Given the description of an element on the screen output the (x, y) to click on. 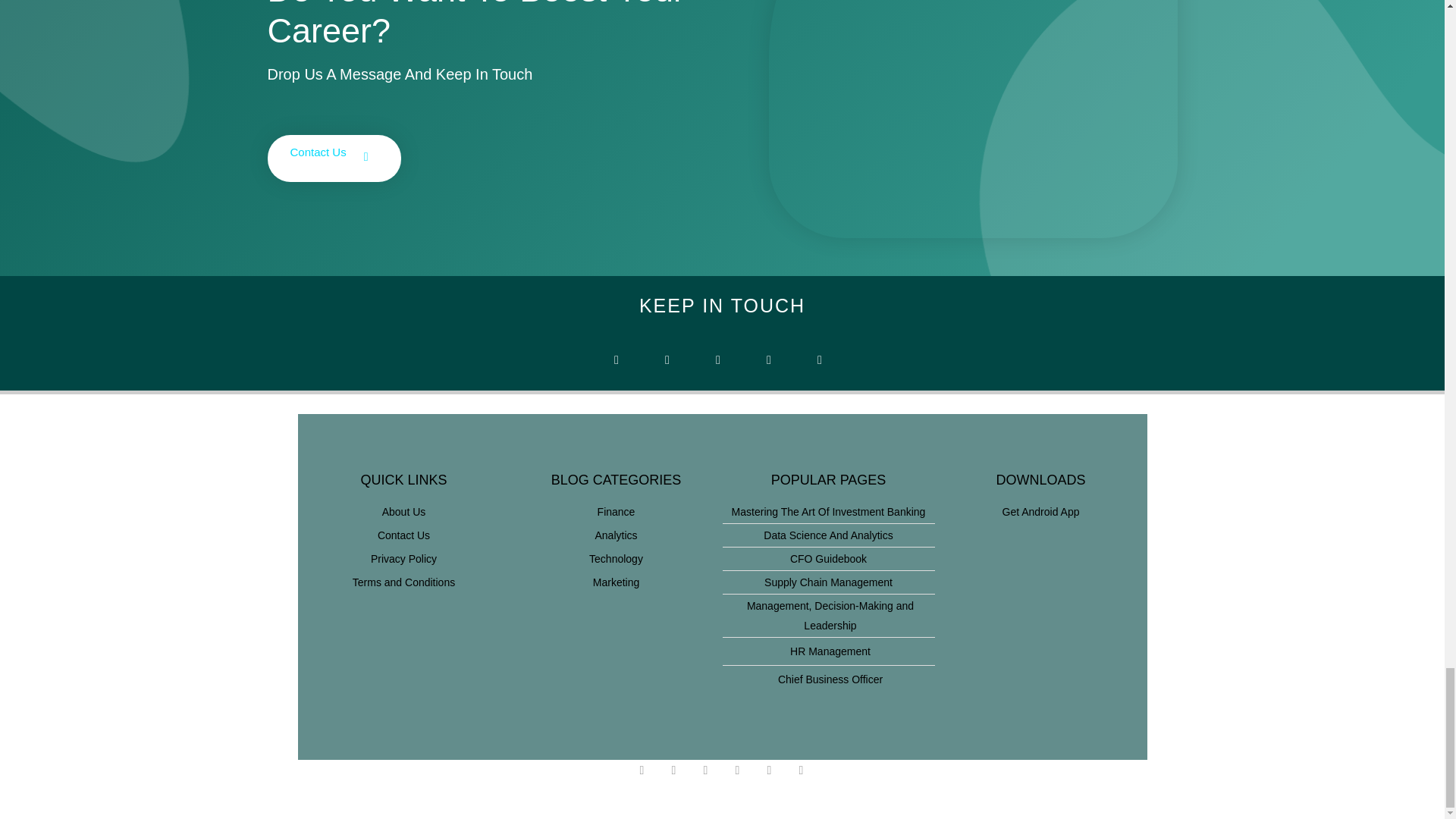
Contact Us (403, 535)
Privacy Policy (403, 558)
Contact Us (333, 158)
About Us (403, 511)
